Given the description of an element on the screen output the (x, y) to click on. 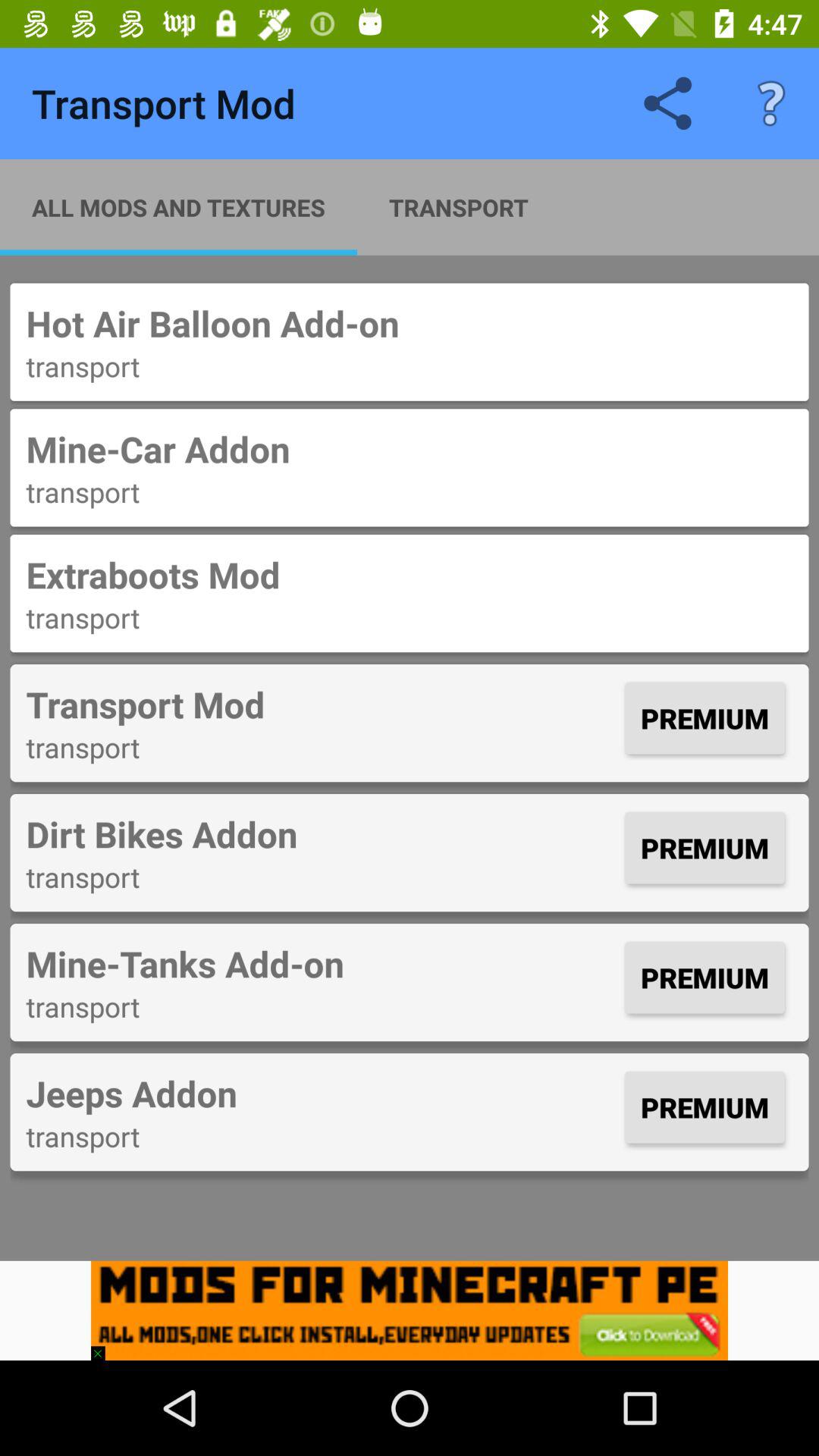
open icon above the transport (321, 963)
